Given the description of an element on the screen output the (x, y) to click on. 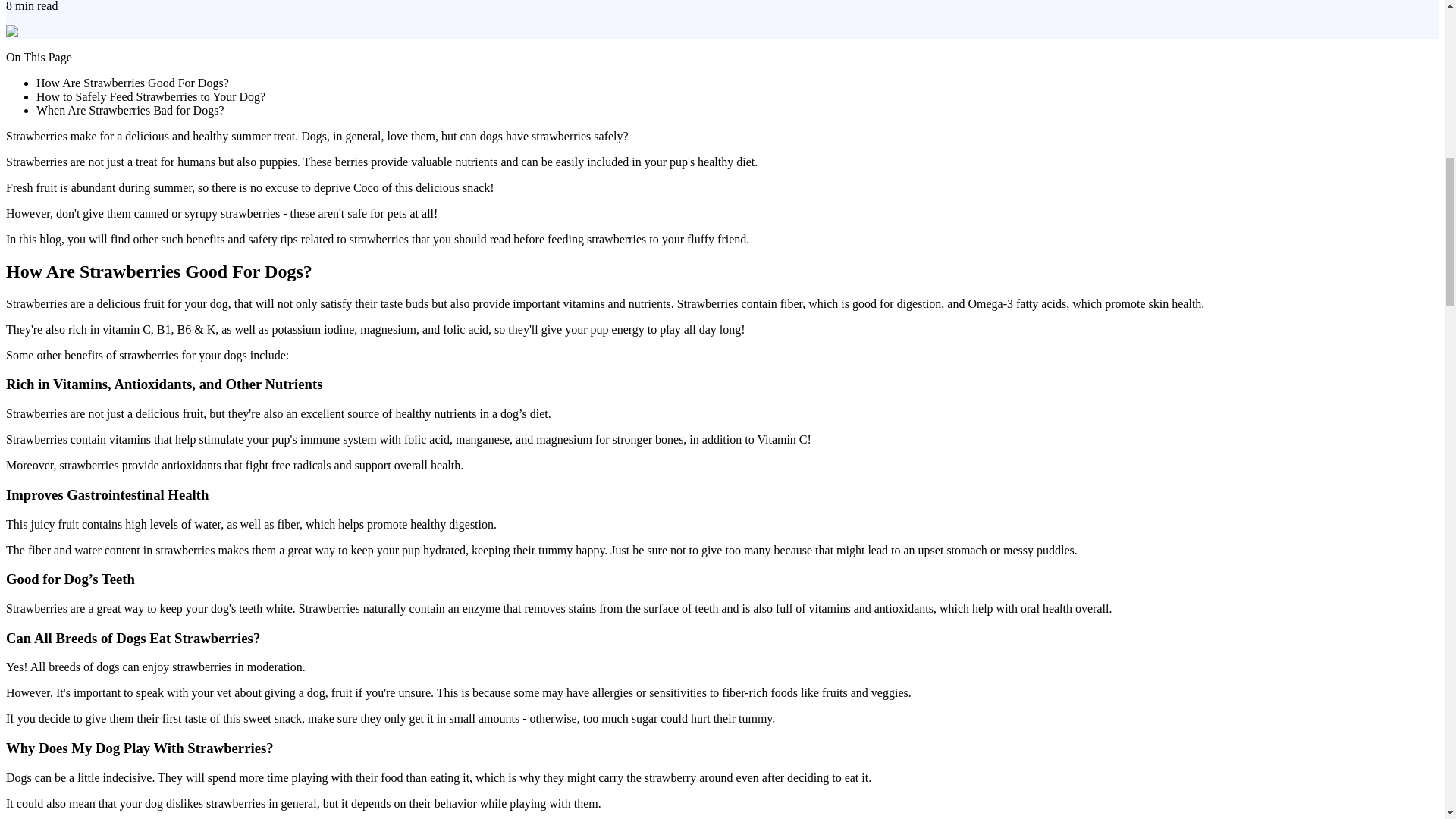
When Are Strawberries Bad for Dogs? (130, 110)
How to Safely Feed Strawberries to Your Dog? (150, 96)
How Are Strawberries Good For Dogs? (132, 82)
